Given the description of an element on the screen output the (x, y) to click on. 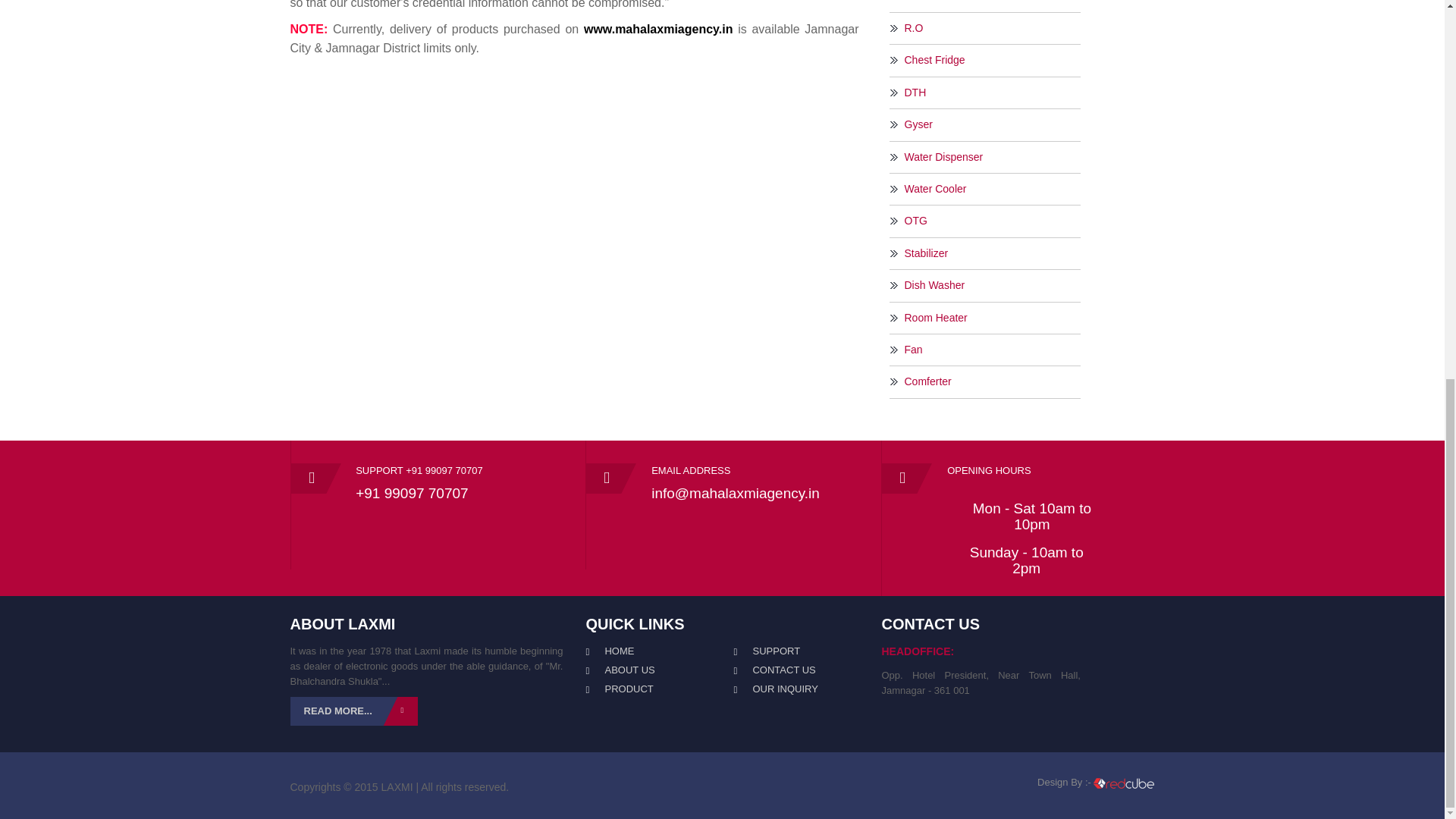
OTG (992, 220)
Gyser (992, 124)
Water Cooler (992, 188)
Comferter (992, 381)
Chest Fridge (992, 59)
Fan (992, 349)
DTH (992, 92)
Stabilizer (992, 253)
R.O (992, 28)
D2H (991, 2)
